Given the description of an element on the screen output the (x, y) to click on. 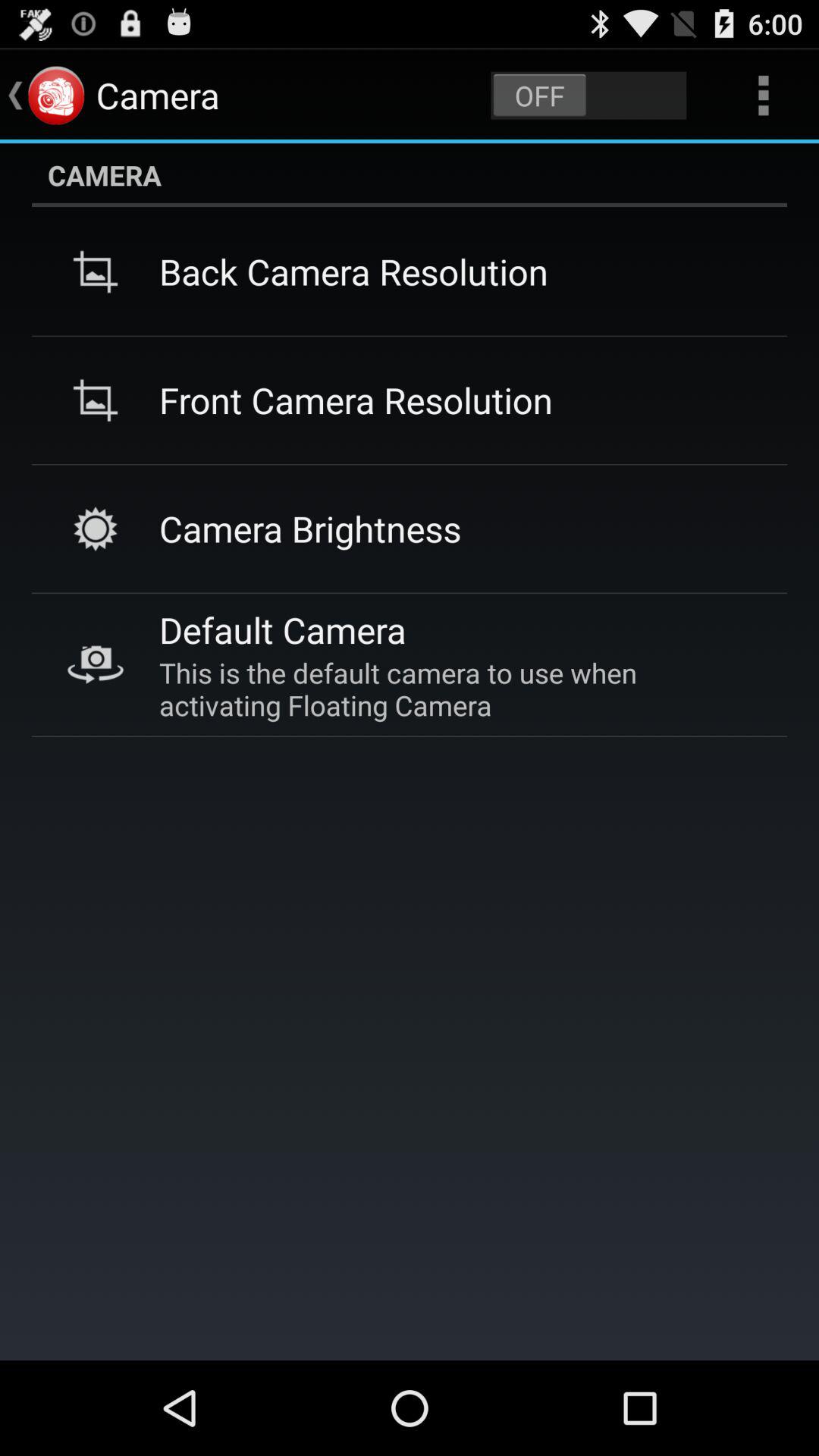
open the this is the app (455, 689)
